Given the description of an element on the screen output the (x, y) to click on. 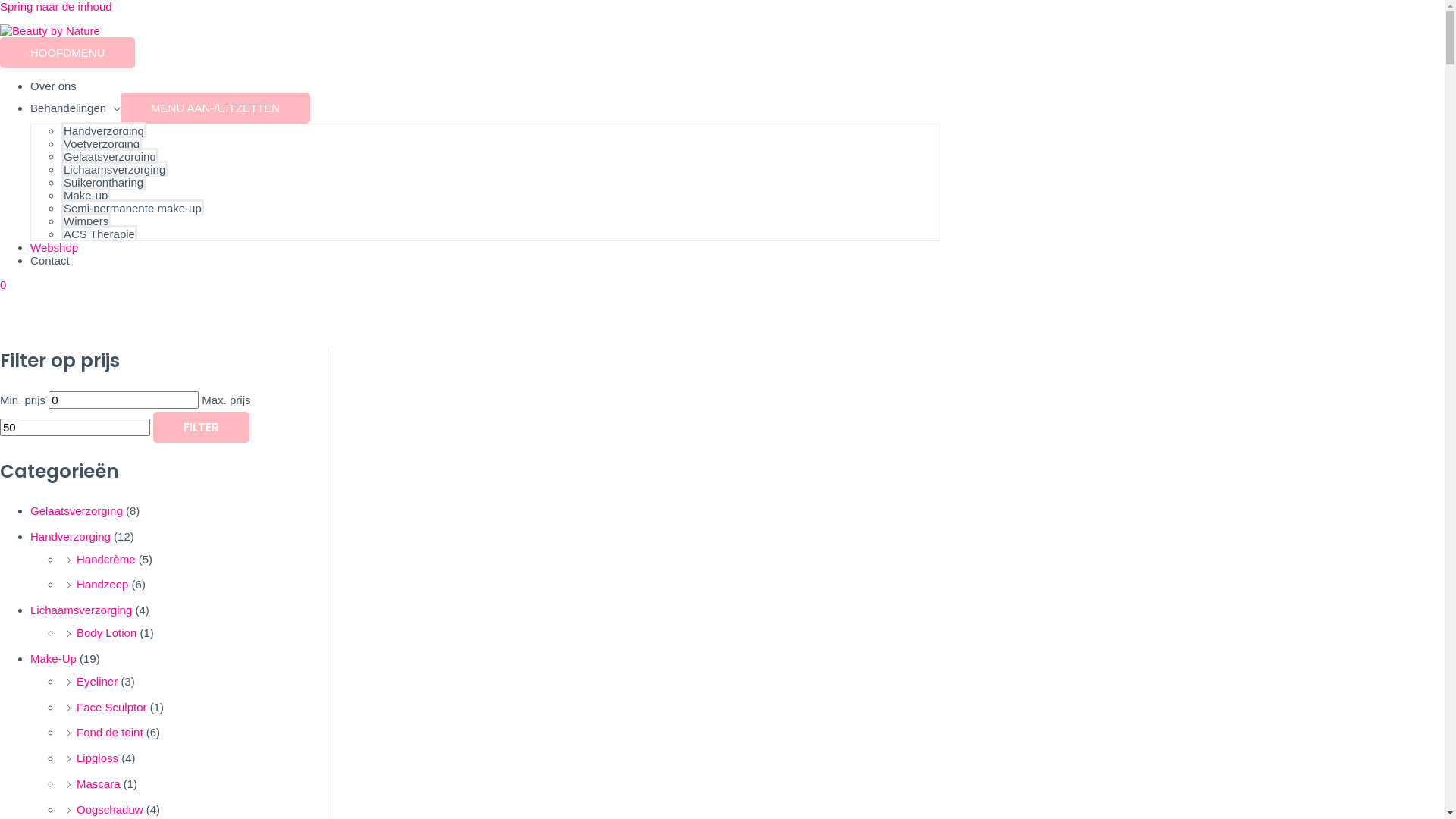
Eyeliner Element type: text (96, 680)
Behandelingen Element type: text (75, 107)
Over ons Element type: text (53, 85)
Handverzorging Element type: text (103, 130)
Gelaatsverzorging Element type: text (76, 510)
Make-Up Element type: text (53, 658)
Face Sculptor Element type: text (111, 706)
Mascara Element type: text (98, 783)
Wimpers Element type: text (85, 220)
ACS Therapie Element type: text (99, 233)
Webshop Element type: text (54, 247)
0 Element type: text (470, 284)
Lipgloss Element type: text (97, 757)
Semi-permanente make-up Element type: text (132, 207)
Contact Element type: text (49, 260)
Lichaamsverzorging Element type: text (114, 168)
Suikerontharing Element type: text (103, 181)
Spring naar de inhoud Element type: text (56, 6)
MENU AAN-/UITZETTEN Element type: text (215, 107)
Handverzorging Element type: text (70, 536)
Body Lotion Element type: text (106, 632)
FILTER Element type: text (201, 426)
Fond de teint Element type: text (109, 731)
Voetverzorging Element type: text (101, 142)
Gelaatsverzorging Element type: text (109, 155)
Handzeep Element type: text (102, 583)
Lichaamsverzorging Element type: text (80, 609)
Oogschaduw Element type: text (109, 809)
Make-up Element type: text (85, 194)
HOOFDMENU Element type: text (67, 52)
